Given the description of an element on the screen output the (x, y) to click on. 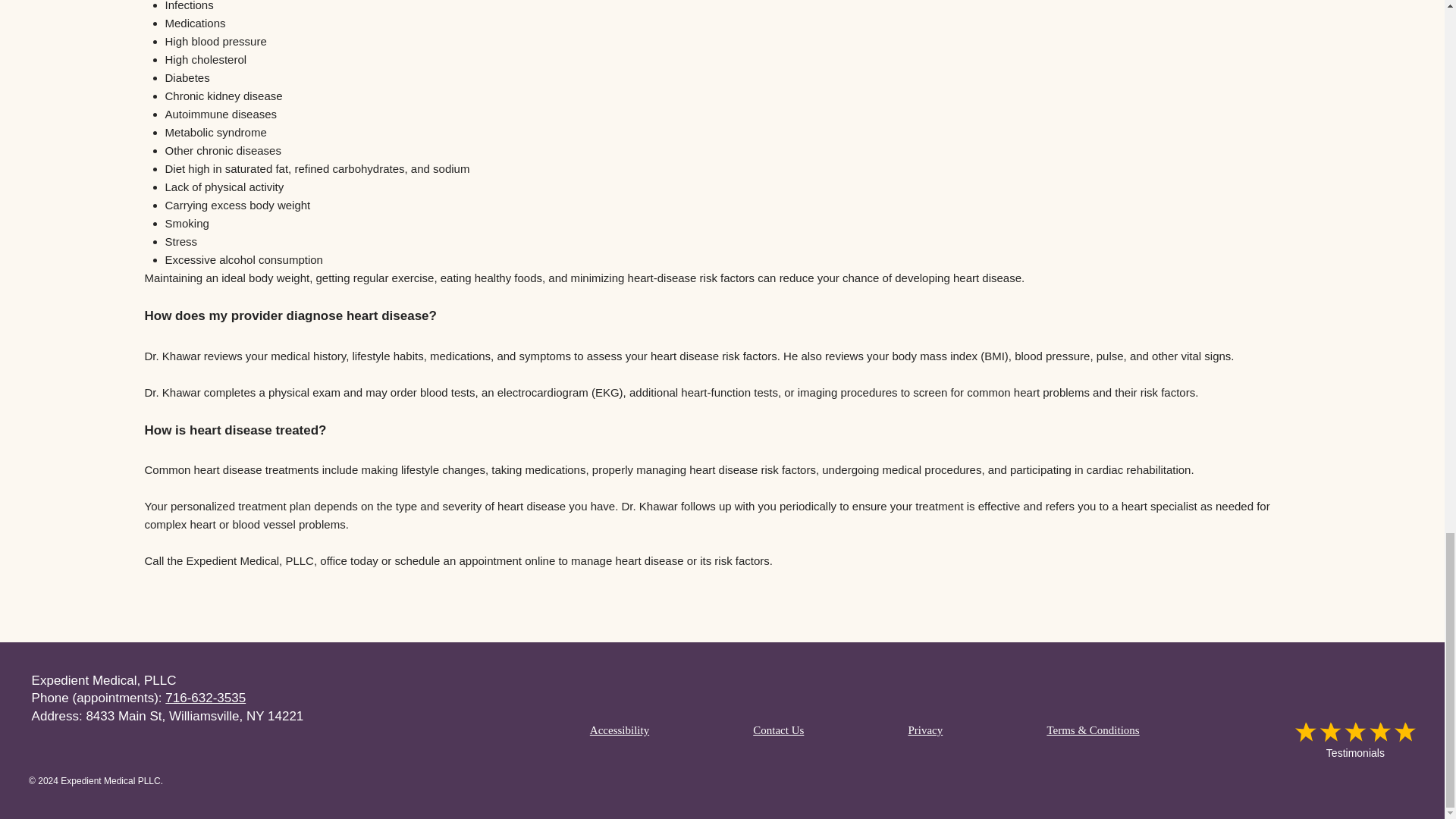
Contact Us (778, 730)
Privacy (925, 730)
Accessibility (618, 730)
716-632-3535 (205, 698)
